Given the description of an element on the screen output the (x, y) to click on. 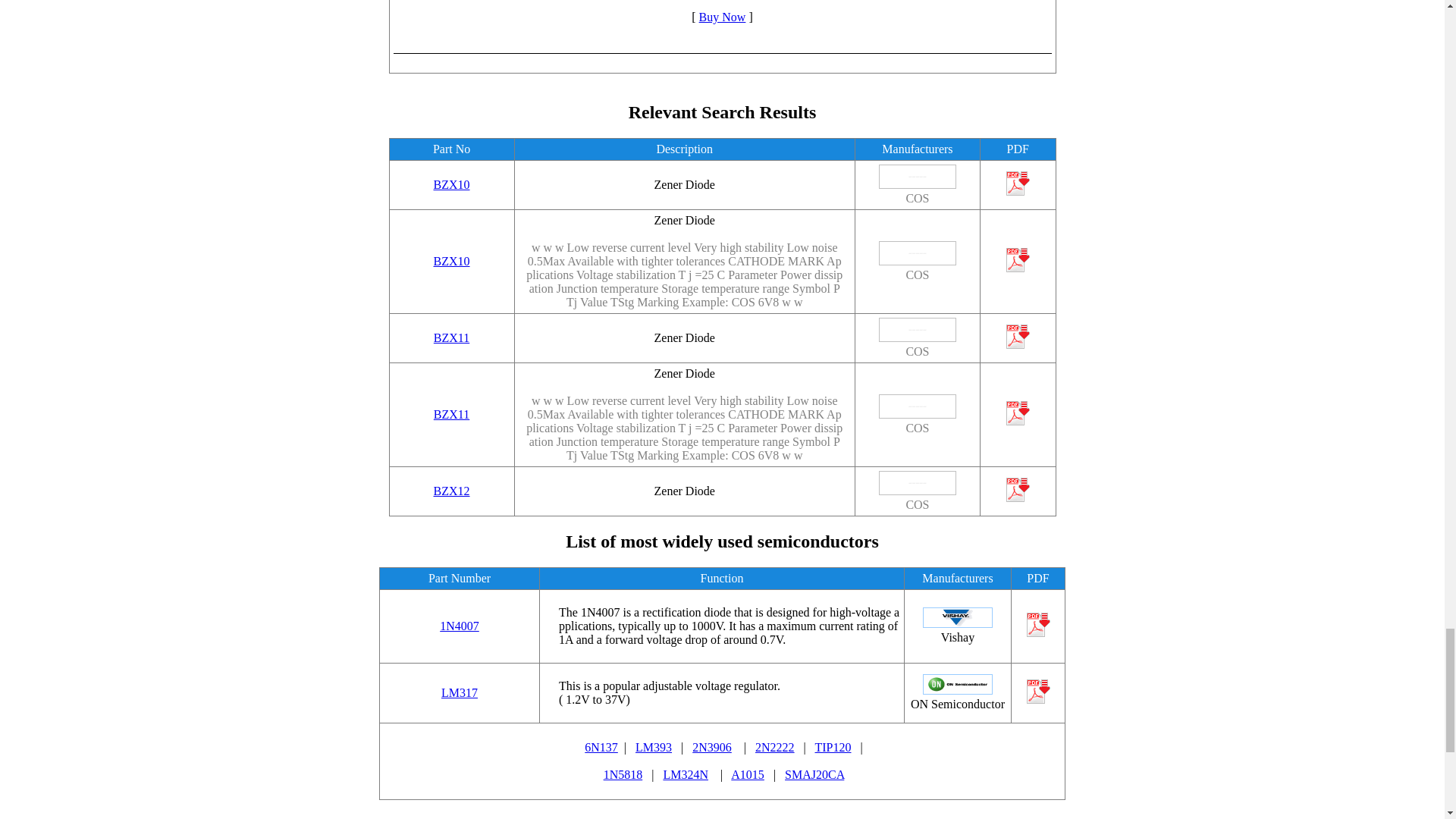
Buy Now (721, 16)
1N5818 (623, 774)
BZX10 (451, 260)
BZX11 (450, 413)
LM324N (684, 774)
BZX11 (450, 337)
6N137 (601, 747)
A1015 (747, 774)
LM393 (652, 747)
LM317 datasheet (459, 692)
2N2222 (774, 747)
BZX10 (451, 184)
1N4007 datasheet (459, 625)
1N4007 (459, 625)
2N3906 (712, 747)
